Given the description of an element on the screen output the (x, y) to click on. 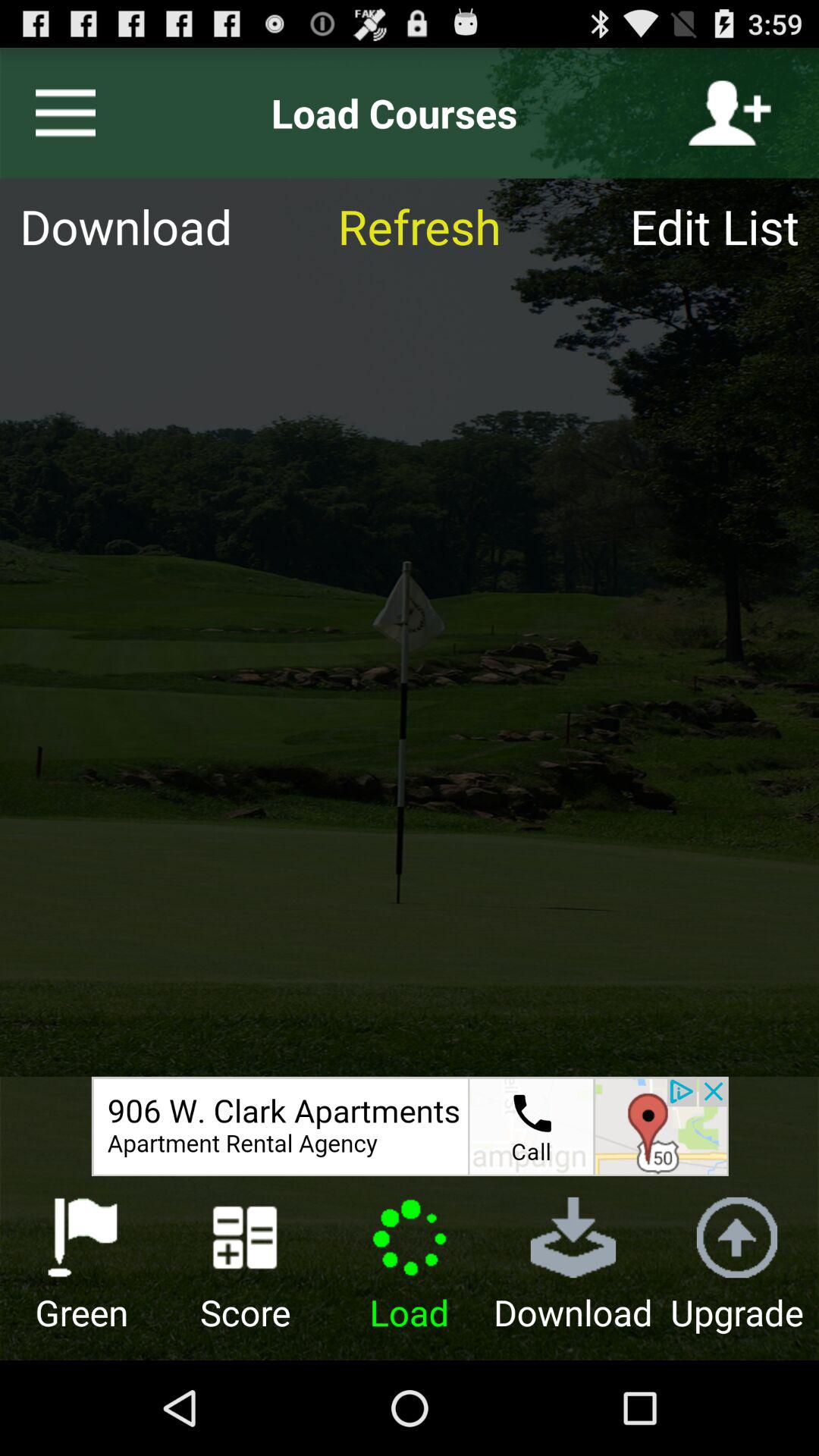
menu tab (59, 112)
